Given the description of an element on the screen output the (x, y) to click on. 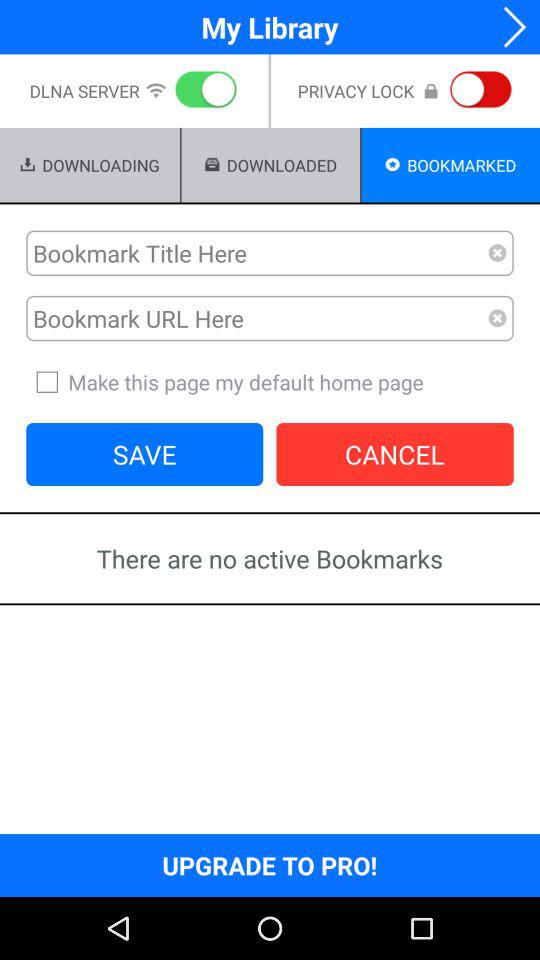
tap the upgrade to pro! item (269, 864)
